Given the description of an element on the screen output the (x, y) to click on. 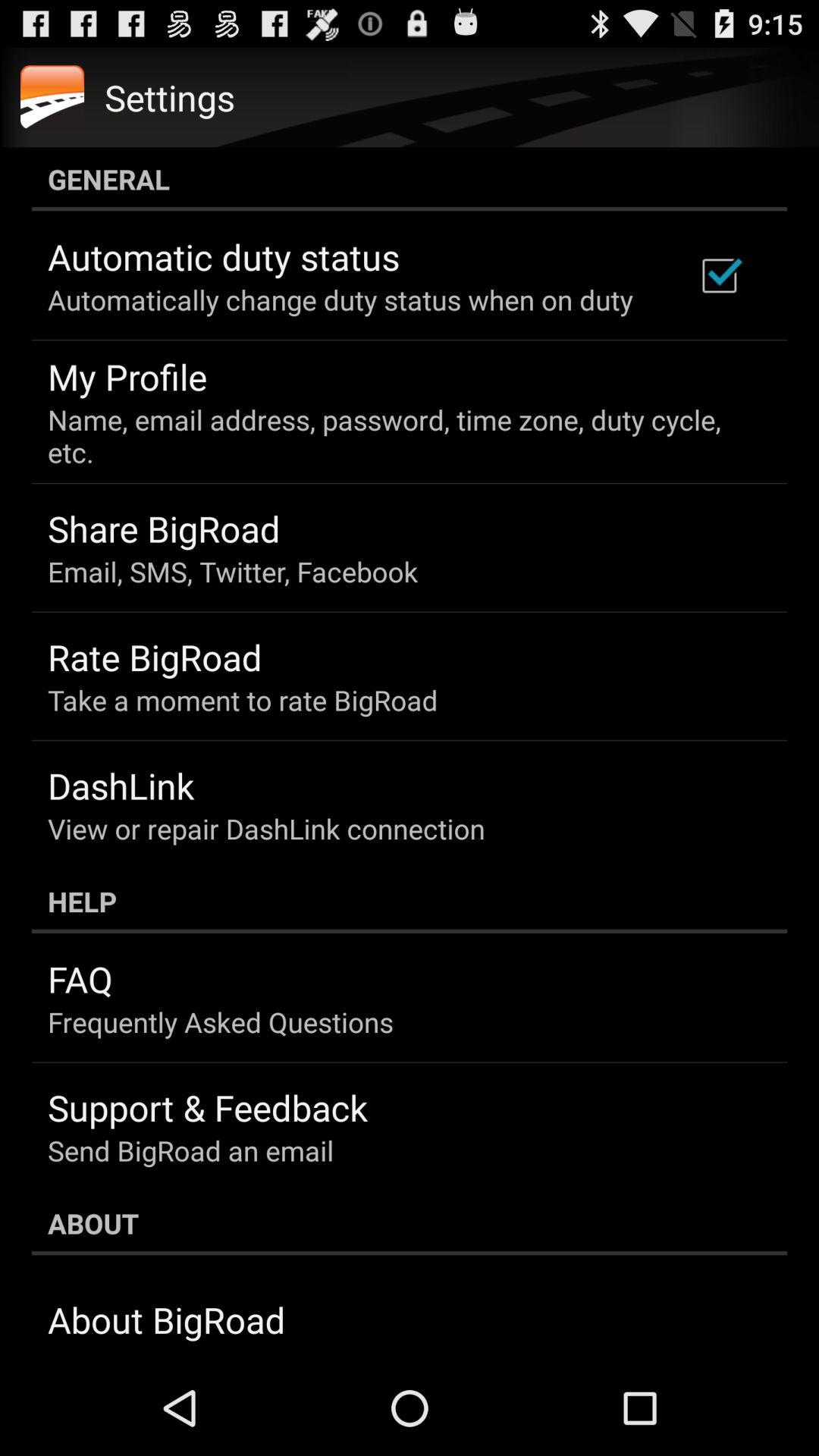
choose automatically change duty icon (340, 299)
